Given the description of an element on the screen output the (x, y) to click on. 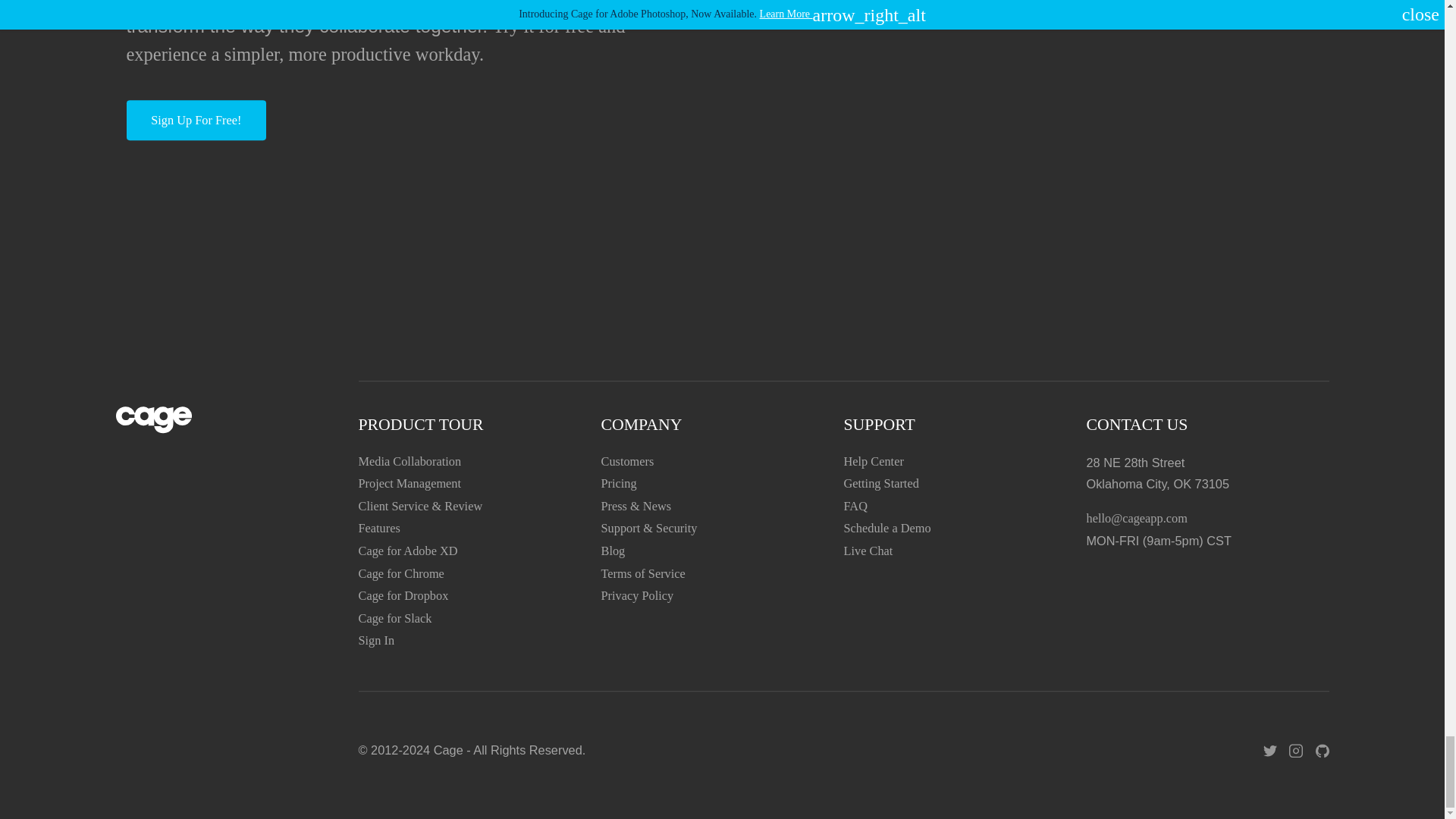
Cage for Dropbox (403, 595)
Pricing (617, 483)
Blog (611, 550)
Schedule a Demo (886, 528)
Media Collaboration (409, 461)
Project Management (409, 483)
Pricing (617, 483)
Sign In (376, 640)
Cage for Adobe XD (407, 550)
Cage for Slack (394, 617)
Cage Slack Integration (394, 617)
Features (378, 528)
Help Center (872, 461)
Customers (626, 461)
Client Services (419, 505)
